Given the description of an element on the screen output the (x, y) to click on. 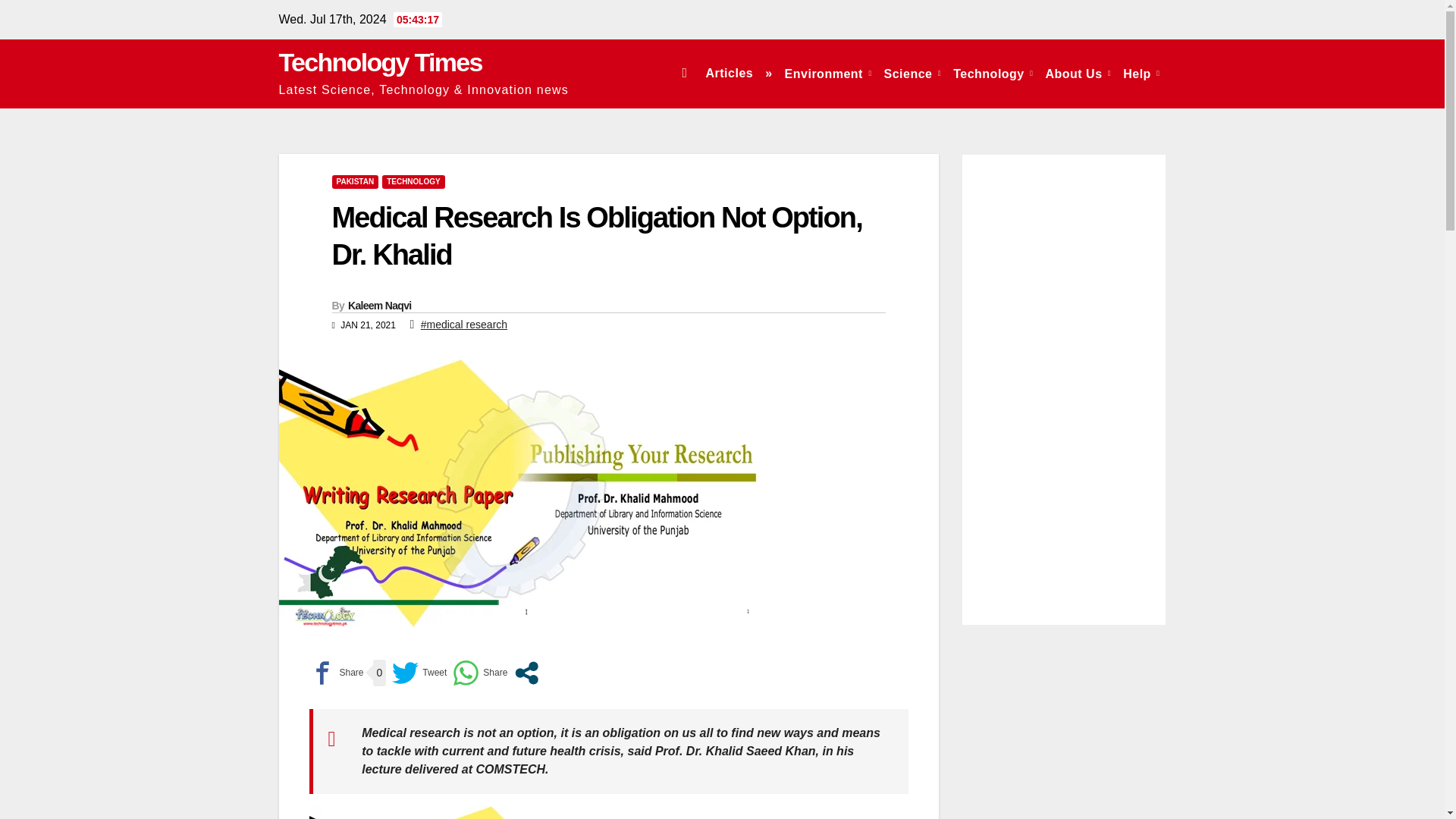
Technology (993, 73)
Technology (993, 73)
Science (912, 73)
About Us (1077, 73)
Environment (827, 73)
Environment (827, 73)
Science (912, 73)
Technology Times (380, 61)
